Given the description of an element on the screen output the (x, y) to click on. 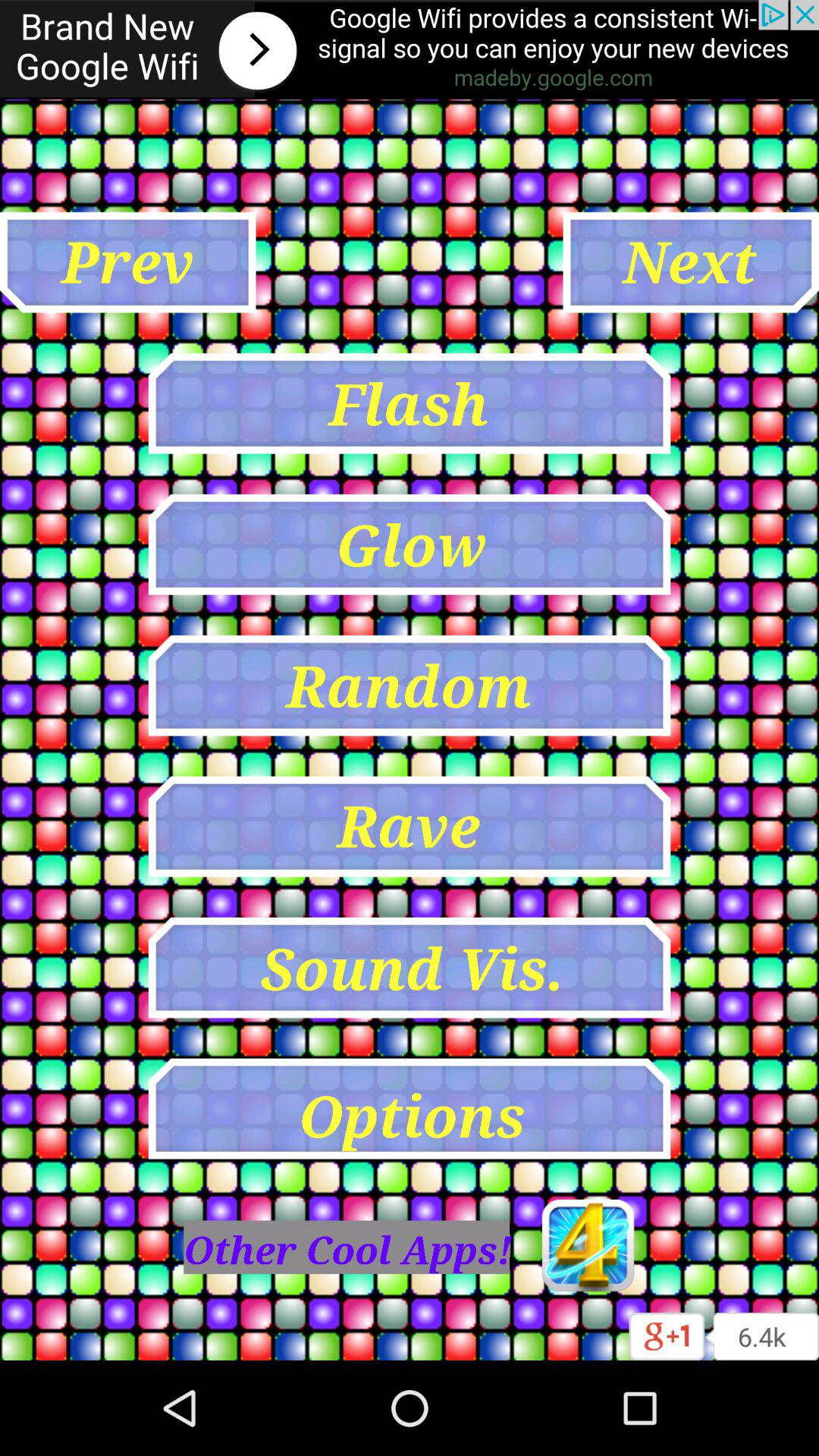
clickable advertisement (409, 49)
